Given the description of an element on the screen output the (x, y) to click on. 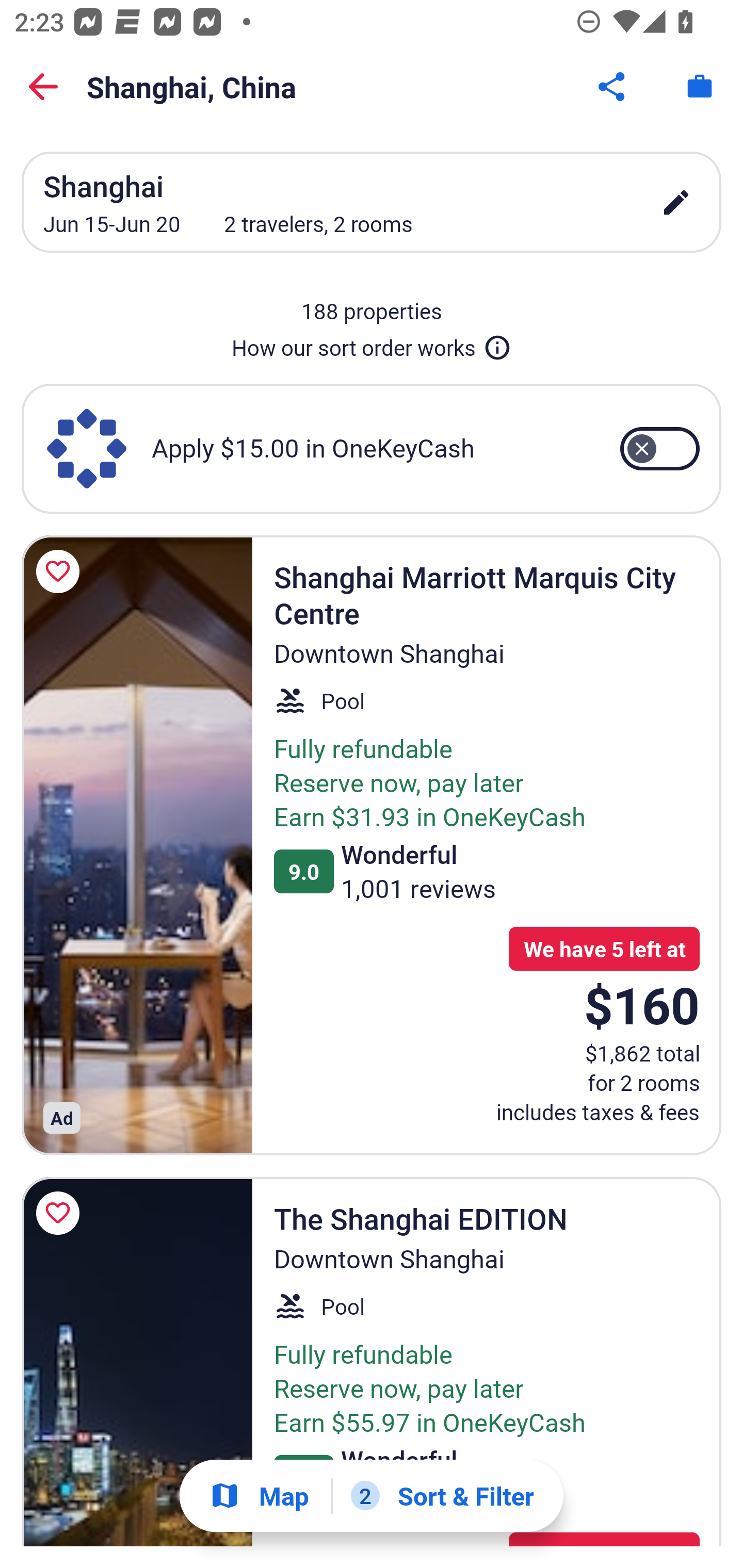
Back (43, 86)
Share Button (612, 86)
Trips. Button (699, 86)
Shanghai Jun 15-Jun 20 2 travelers, 2 rooms edit (371, 202)
How our sort order works (371, 344)
Shanghai Marriott Marquis City Centre (136, 844)
Save The Shanghai EDITION to a trip (61, 1212)
The Shanghai EDITION (136, 1361)
2 Sort & Filter 2 Filters applied. Filters Button (442, 1495)
Show map Map Show map Button (258, 1495)
